Given the description of an element on the screen output the (x, y) to click on. 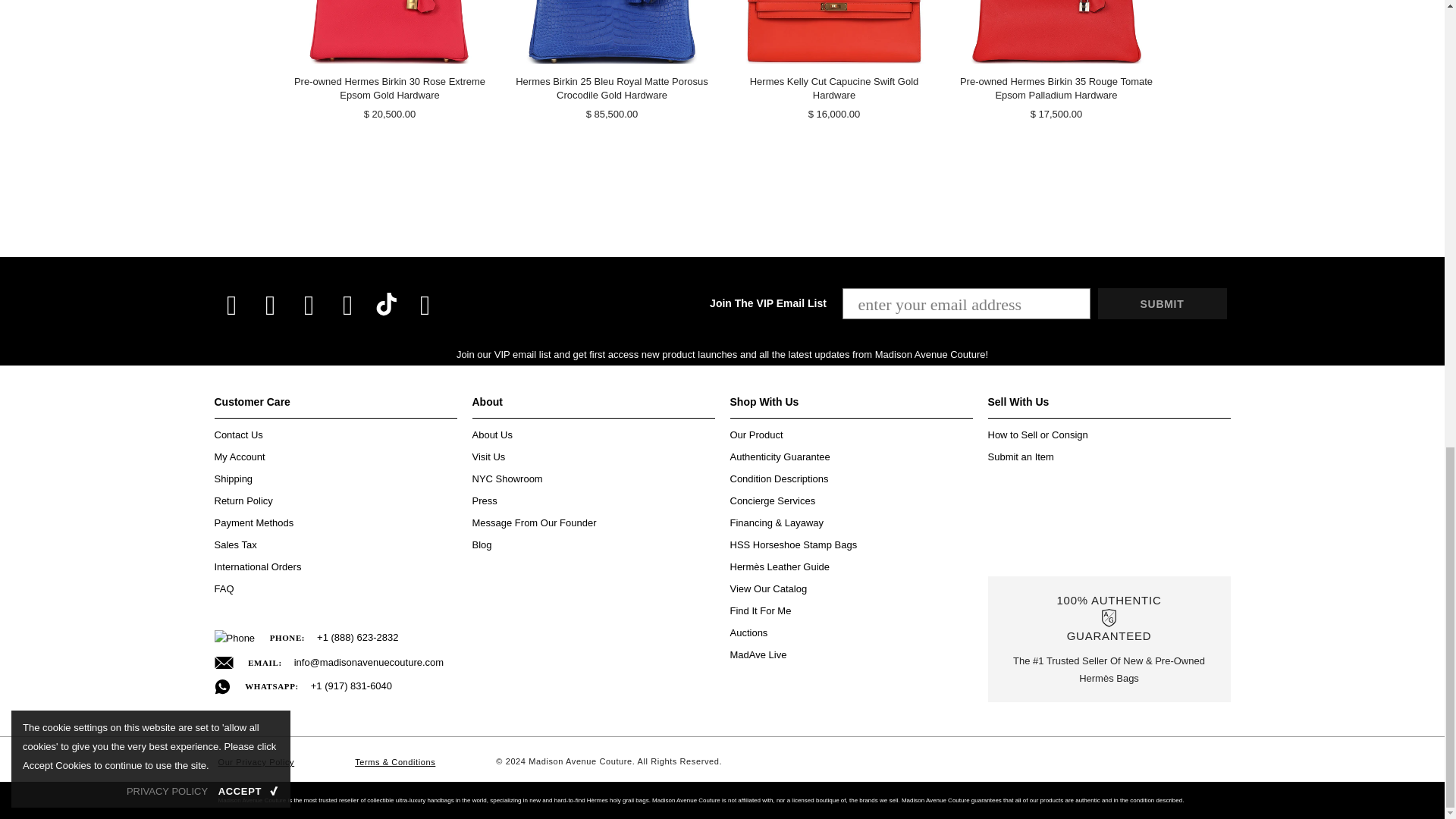
Return Policy (243, 500)
Instagram (309, 305)
Facebook (232, 305)
Submit (1162, 303)
Contact Us (238, 434)
My Account (239, 456)
Twitter (269, 305)
Shipping (232, 478)
YouTube (424, 305)
TikTok (386, 303)
Pinterest (347, 305)
